Given the description of an element on the screen output the (x, y) to click on. 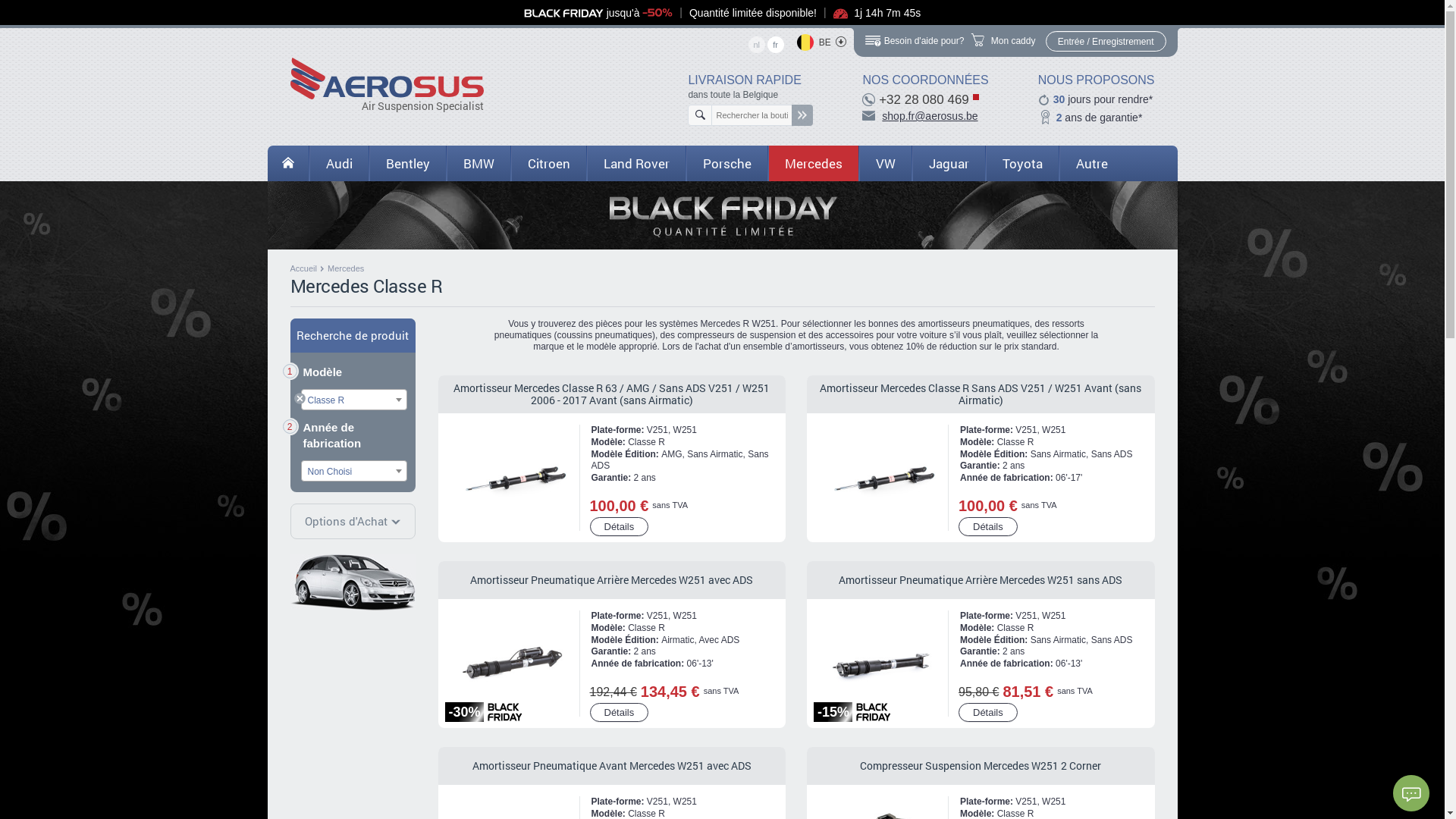
Land Rover Element type: text (636, 163)
BMW Element type: text (477, 163)
Lundi - Vendredi: 09:00 - 17:00
 Element type: hover (975, 97)
30 jours pour rendre* Element type: text (1096, 99)
Toyota Element type: text (1022, 163)
Citroen Element type: text (548, 163)
Audi Element type: text (339, 163)
Mercedes Element type: text (347, 268)
Recherche Element type: text (801, 114)
Options d'Achat Element type: text (352, 521)
+32 28 080 469 Element type: text (925, 99)
Mon caddy Element type: text (1004, 41)
Porsche Element type: text (726, 163)
Recherche de produit Element type: text (351, 335)
2 ans de garantie* Element type: text (1096, 116)
fr Element type: text (775, 44)
shop.fr@aerosus.be Element type: text (929, 115)
Air Suspension Specialist Element type: hover (386, 78)
Jaguar Element type: text (948, 163)
Classe R Element type: hover (351, 582)
VW Element type: text (884, 163)
Besoin d'aide pour? Element type: text (914, 41)
Autre Element type: text (1090, 163)
Mercedes Element type: text (812, 163)
nl Element type: text (756, 44)
Bentley Element type: text (406, 163)
Accueil Element type: text (304, 268)
Air Suspension Specialist Element type: text (386, 84)
